Given the description of an element on the screen output the (x, y) to click on. 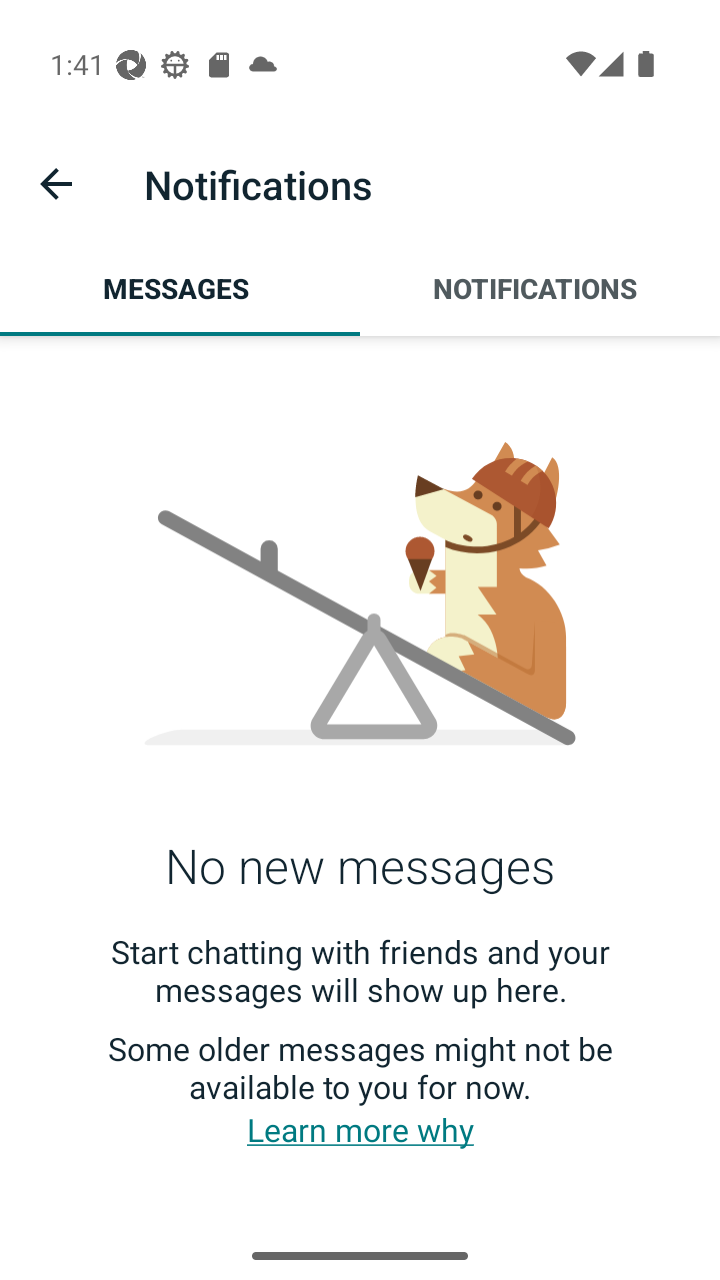
Notifications NOTIFICATIONS (540, 287)
